Given the description of an element on the screen output the (x, y) to click on. 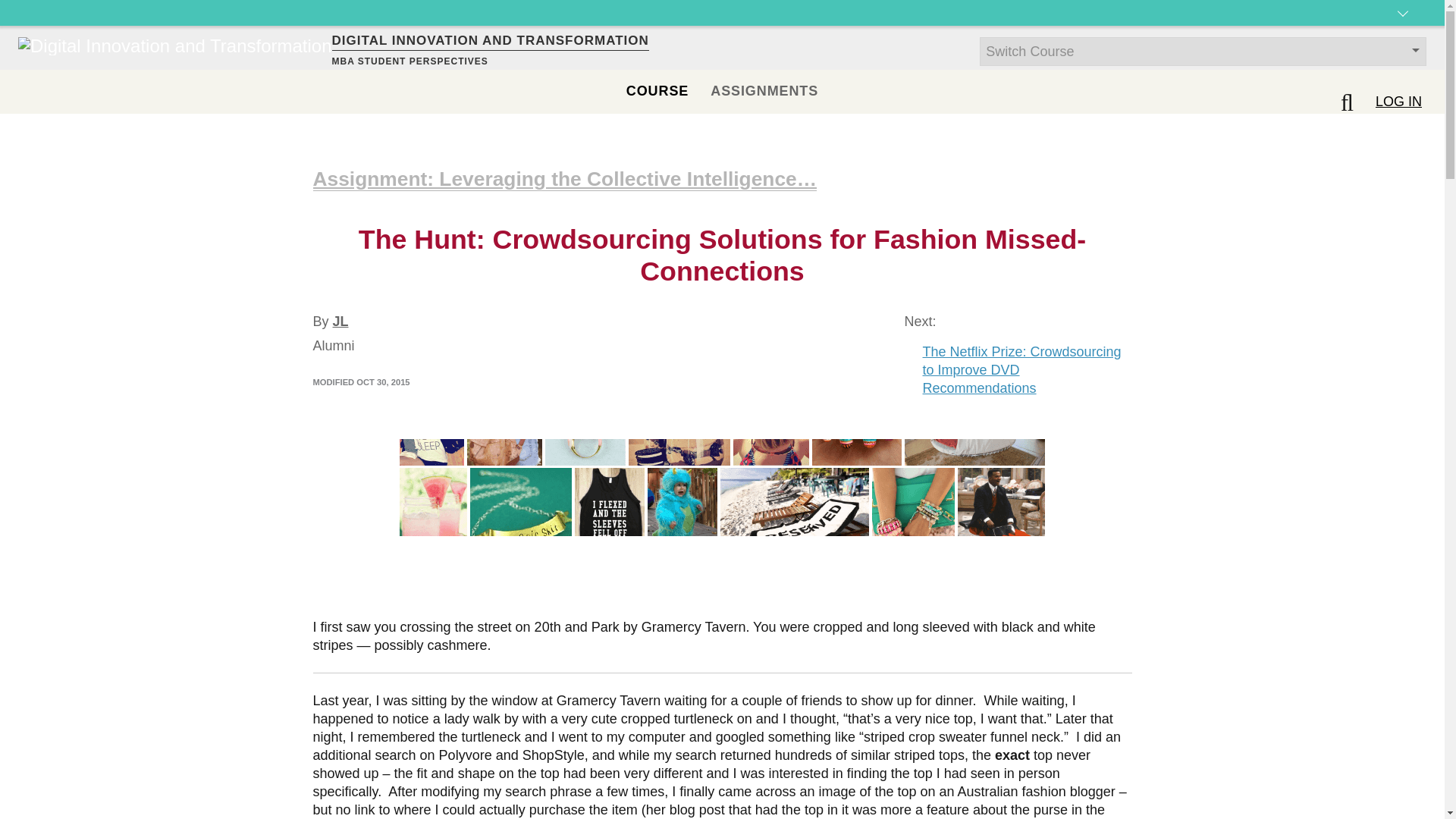
Expand. (1403, 26)
COURSE (657, 90)
Go (18, 9)
ASSIGNMENTS (764, 90)
LOG IN (1398, 101)
JL (341, 321)
